Given the description of an element on the screen output the (x, y) to click on. 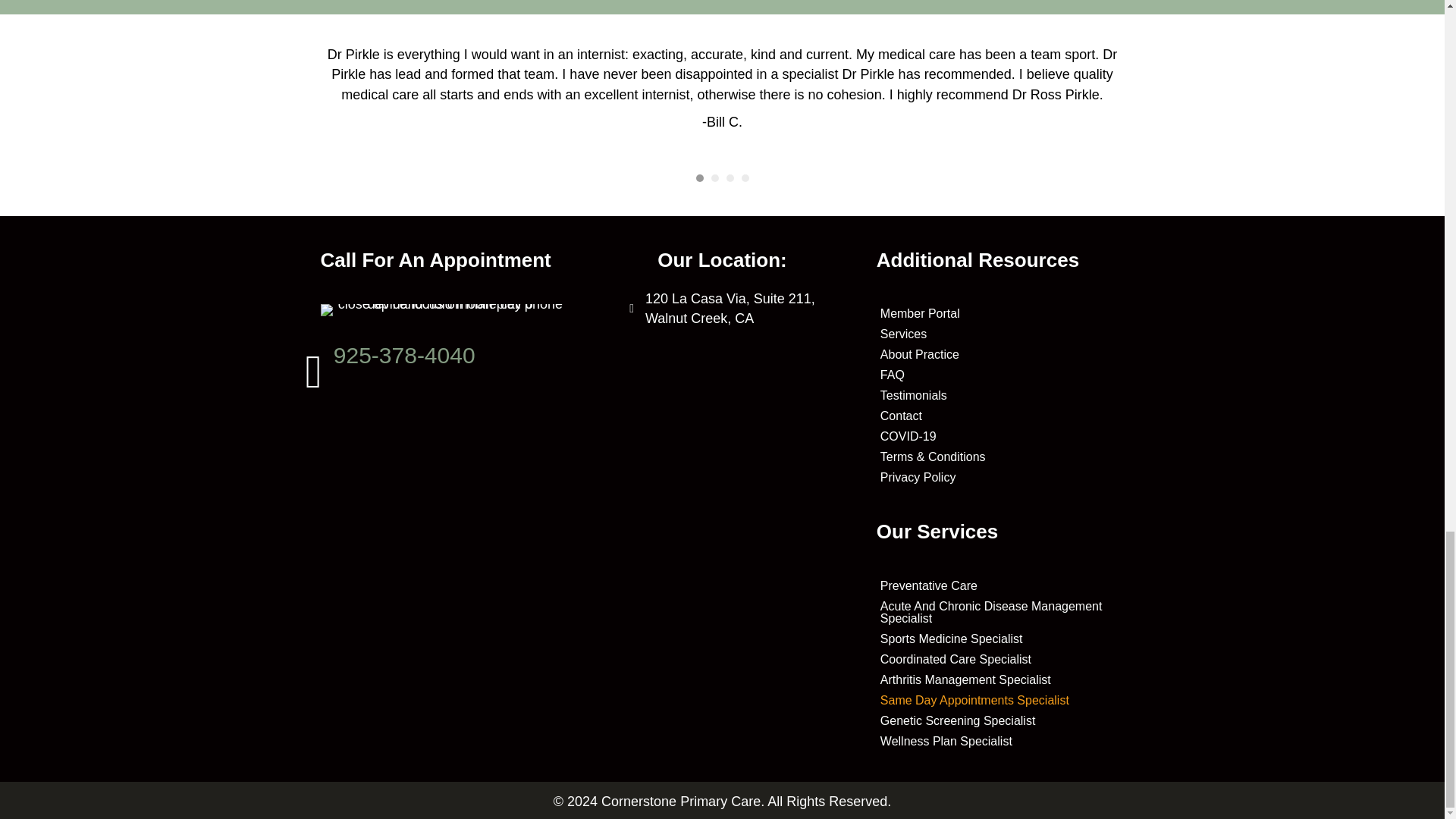
2 (715, 177)
COVID-19 (1000, 436)
Services (1000, 333)
Testimonials (1000, 395)
Member Portal (1000, 313)
FAQ (1000, 374)
1 (699, 177)
4 (745, 177)
3 (729, 177)
Contact (1000, 415)
About Practice (1000, 354)
Privacy Policy (1000, 477)
